Given the description of an element on the screen output the (x, y) to click on. 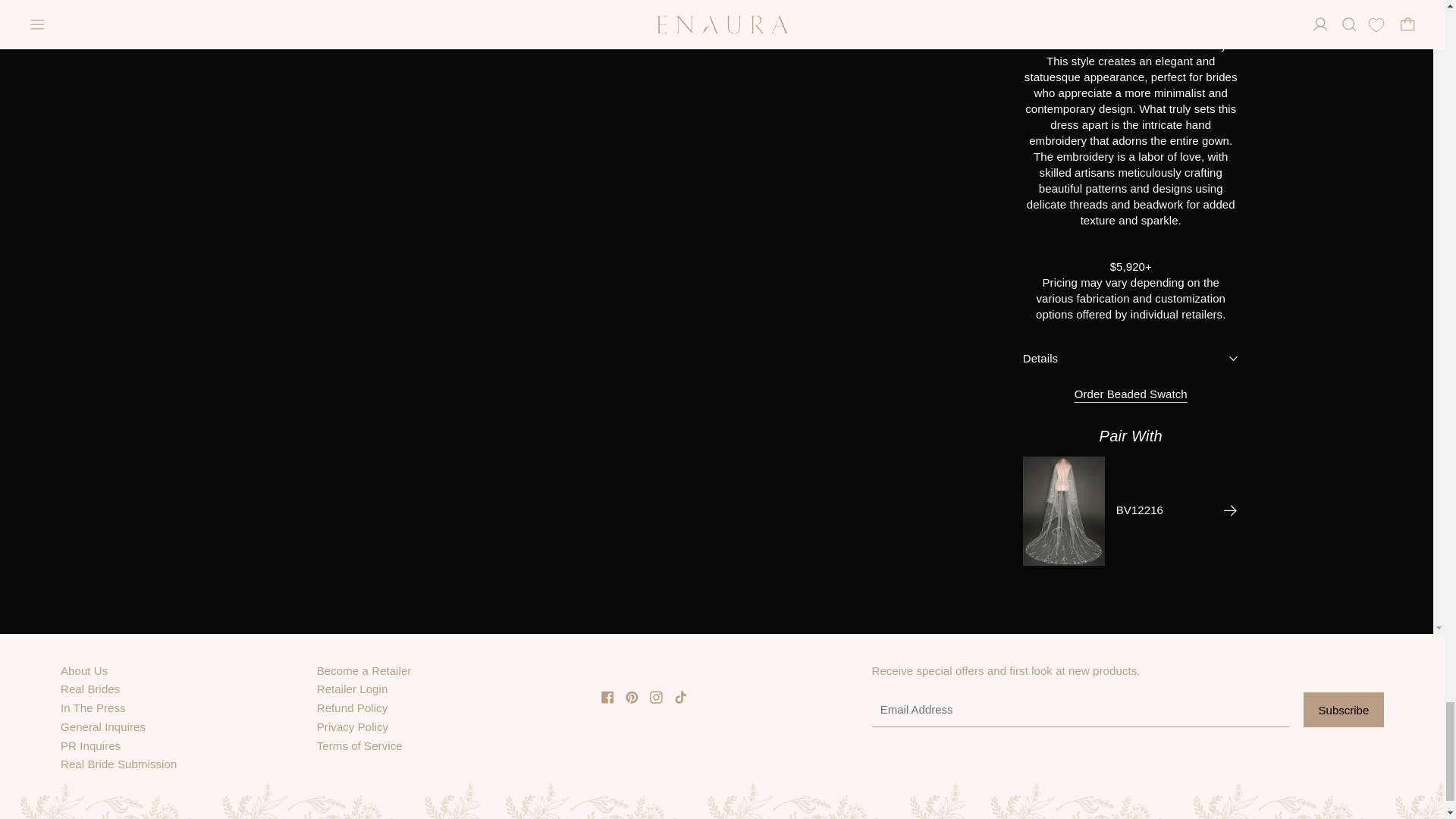
General Inquires (103, 726)
Refund Policy (352, 707)
About Us (84, 670)
Privacy Policy (352, 726)
Real Brides (90, 688)
In The Press (93, 707)
Terms of Service (360, 745)
Real Bride Submission (118, 763)
PR Inquires (90, 745)
Become a Retailer (364, 670)
Subscribe (1343, 709)
Retailer Login (352, 688)
